Given the description of an element on the screen output the (x, y) to click on. 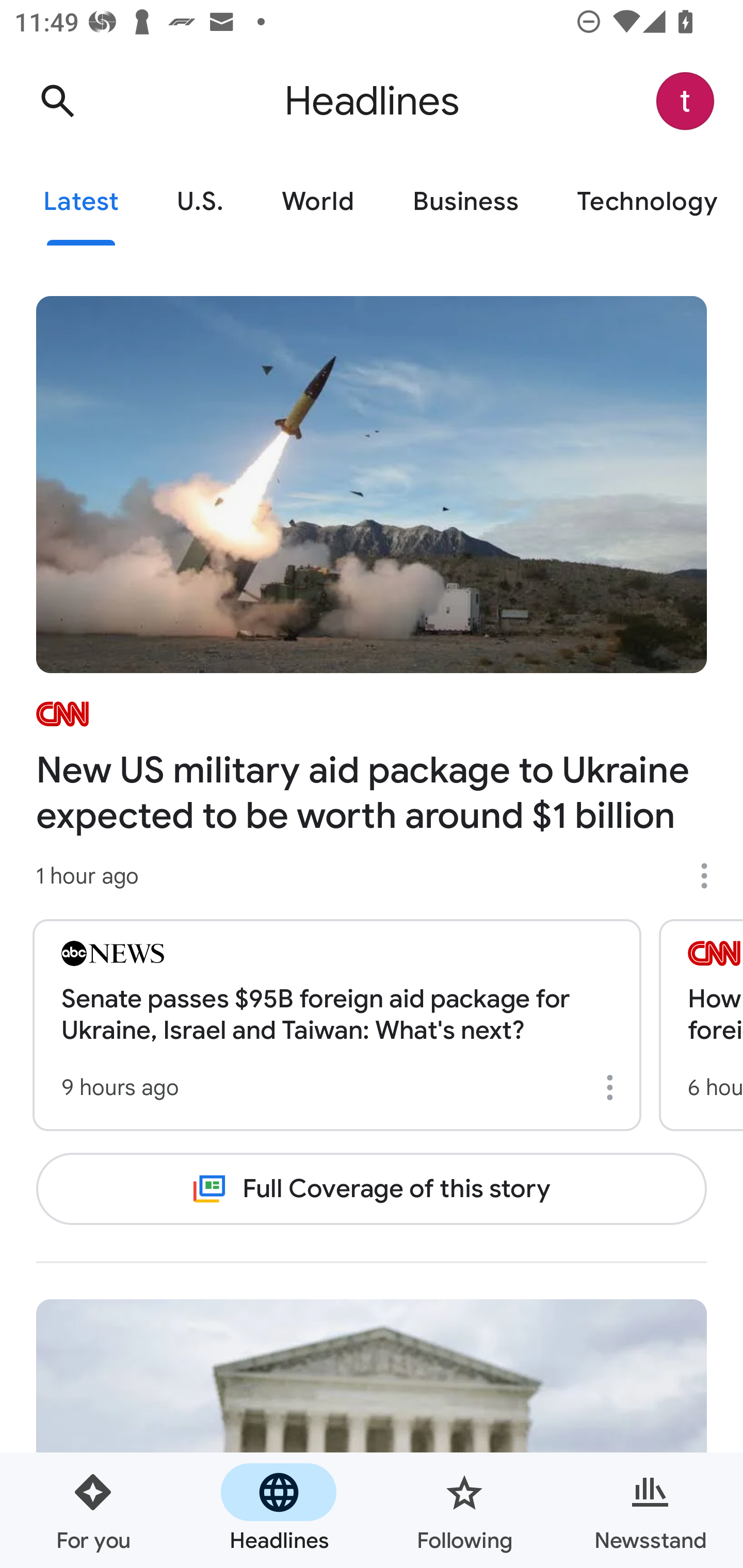
Search (57, 100)
U.S. (199, 202)
World (317, 202)
Business (465, 202)
Technology (645, 202)
More options (711, 875)
More options (613, 1086)
Full Coverage of this story (371, 1188)
For you (92, 1509)
Headlines (278, 1509)
Following (464, 1509)
Newsstand (650, 1509)
